Given the description of an element on the screen output the (x, y) to click on. 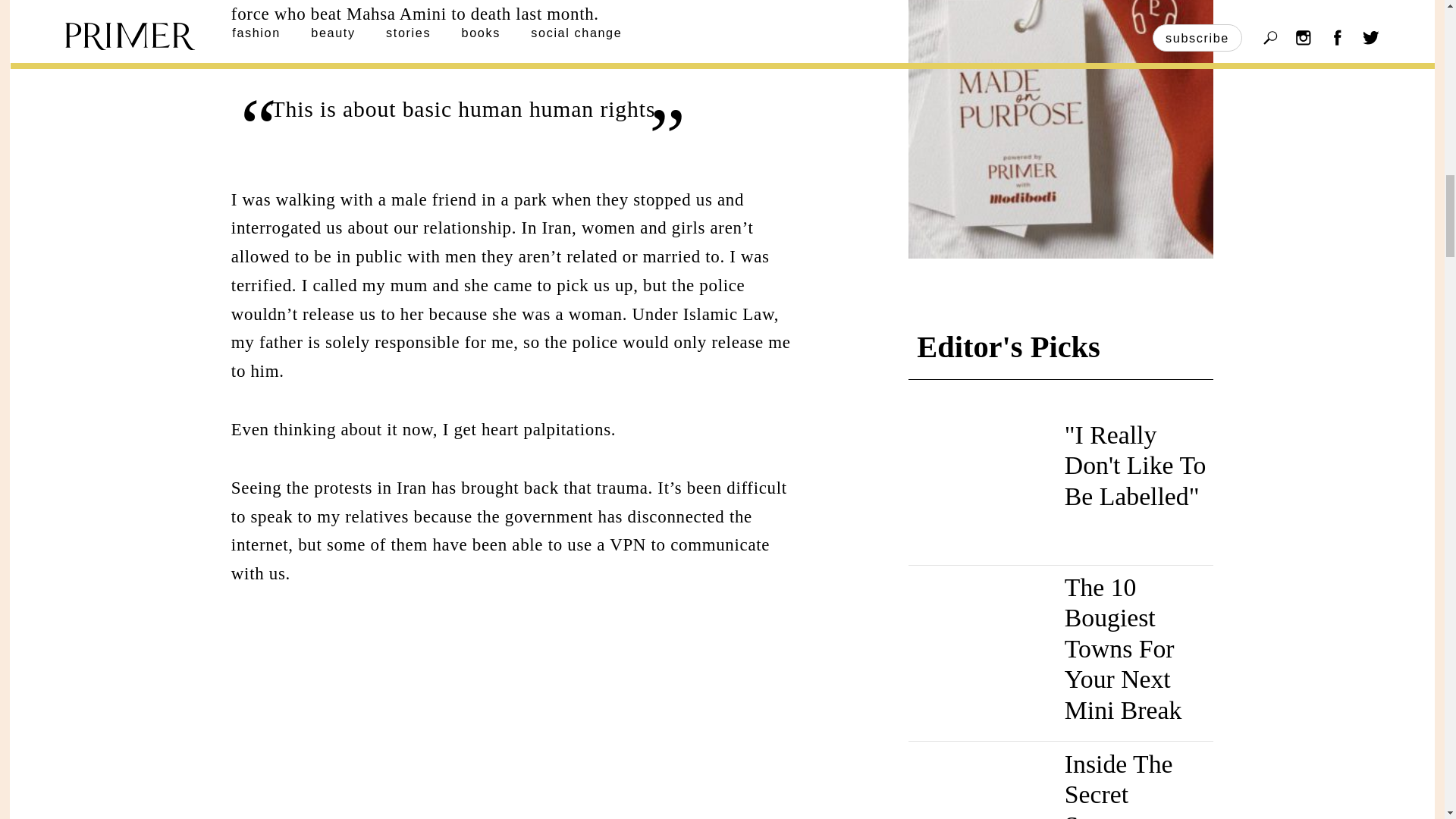
"I Really Don't Like To Be Labelled" (1135, 465)
